Given the description of an element on the screen output the (x, y) to click on. 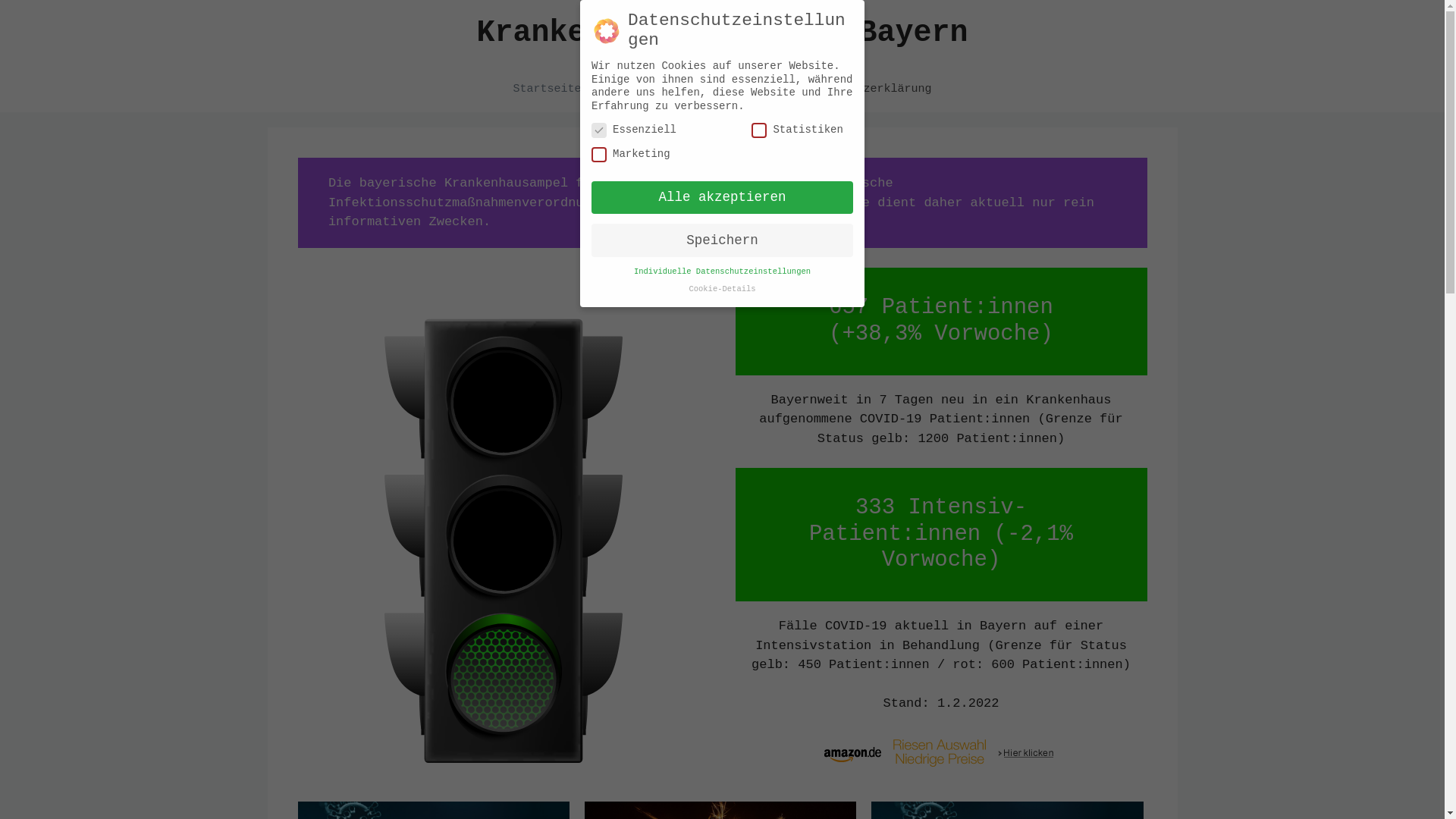
Speichern Element type: text (722, 240)
Alle akzeptieren Element type: text (722, 197)
Startseite Element type: text (546, 89)
Individuelle Datenschutzeinstellungen Element type: text (721, 271)
Aktuelles Element type: text (641, 89)
Cookie-Details Element type: text (721, 288)
Impressum Element type: text (733, 89)
